Given the description of an element on the screen output the (x, y) to click on. 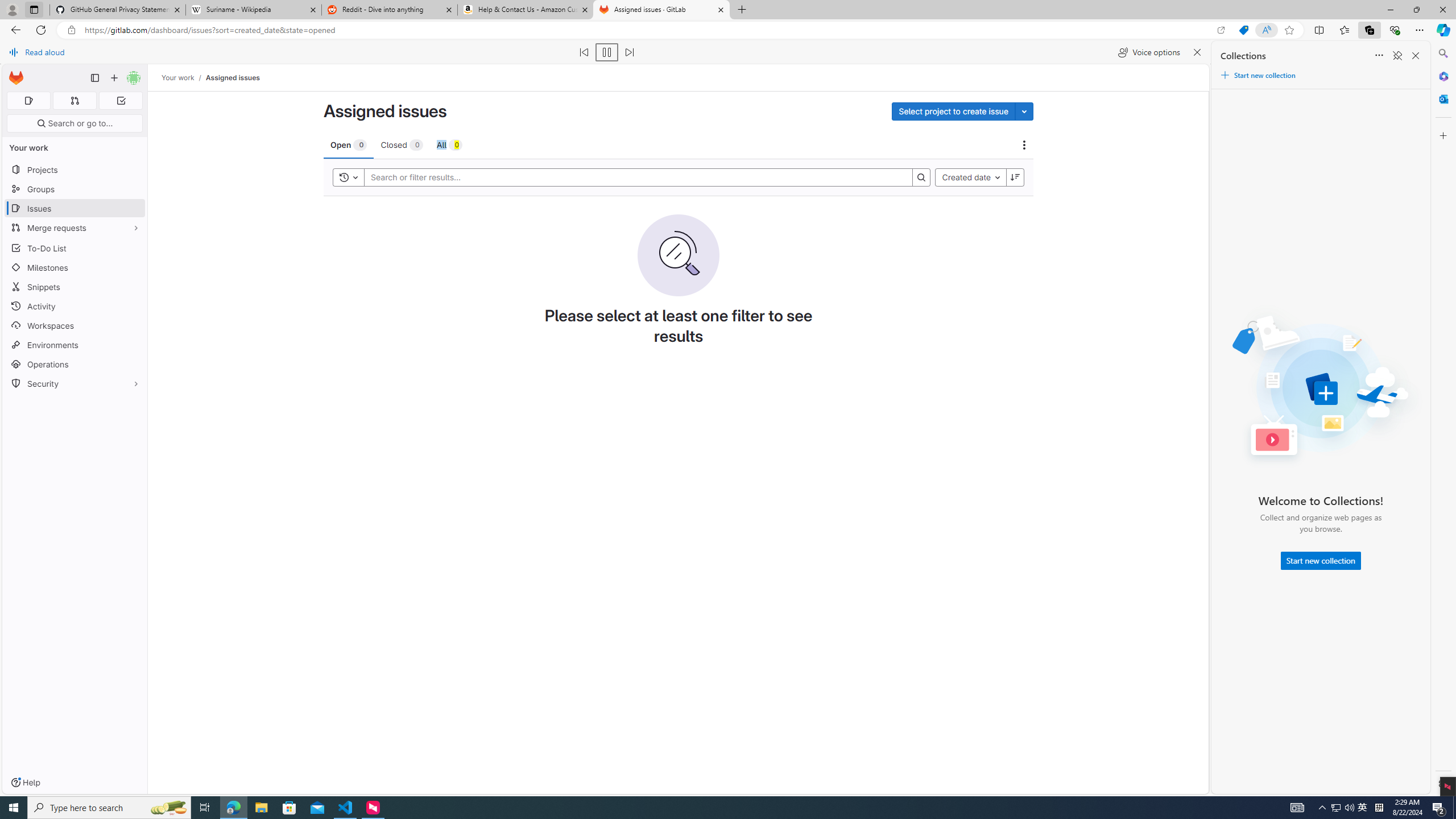
Snippets (74, 286)
Assigned issues 0 (28, 100)
Projects (74, 169)
Create new... (113, 77)
Milestones (74, 266)
Merge requests (74, 227)
Sort (1379, 55)
Open 0 (348, 144)
Primary navigation sidebar (94, 77)
